Given the description of an element on the screen output the (x, y) to click on. 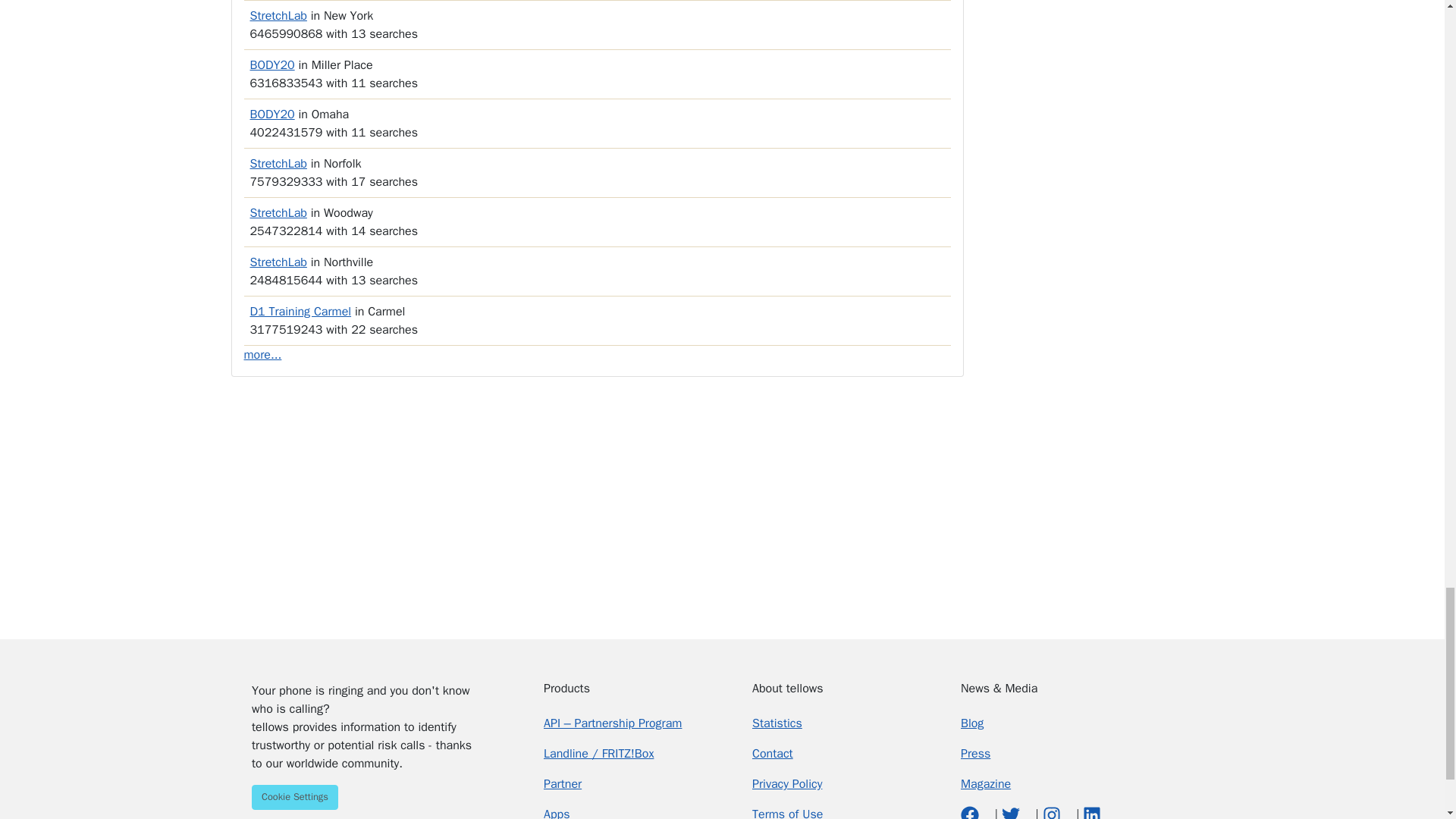
Facebook (971, 812)
Magazin (985, 783)
Blog (972, 723)
LinkedIn (1091, 812)
Instagram (1053, 812)
Presse (975, 753)
twitter (1012, 812)
